Given the description of an element on the screen output the (x, y) to click on. 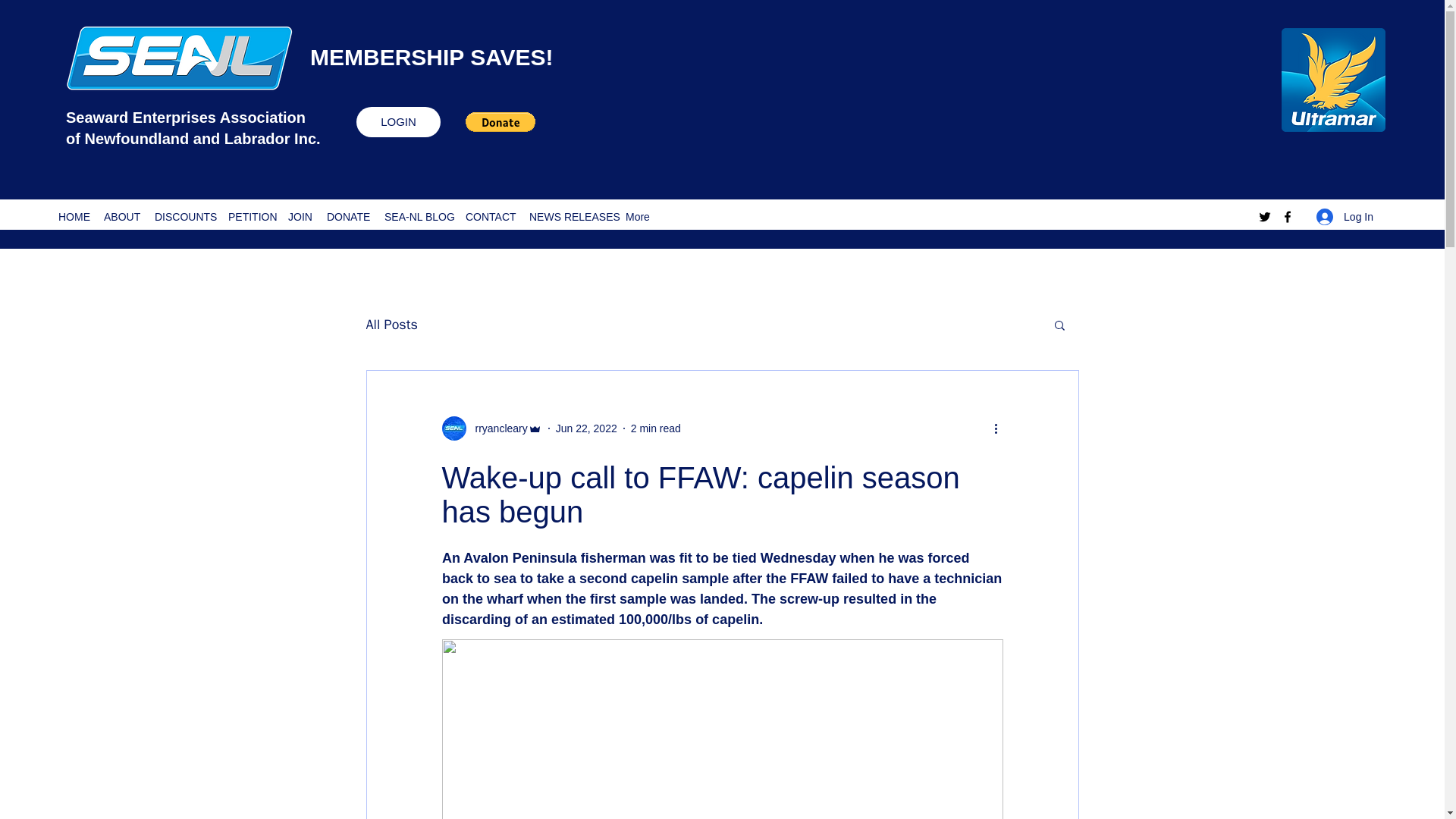
DONATE (347, 216)
All Posts (390, 324)
ABOUT (121, 216)
rryancleary (491, 428)
PETITION (251, 216)
LOGIN (398, 122)
SEA-NL BLOG (417, 216)
Log In (1345, 216)
rryancleary (496, 428)
HOME (73, 216)
